Given the description of an element on the screen output the (x, y) to click on. 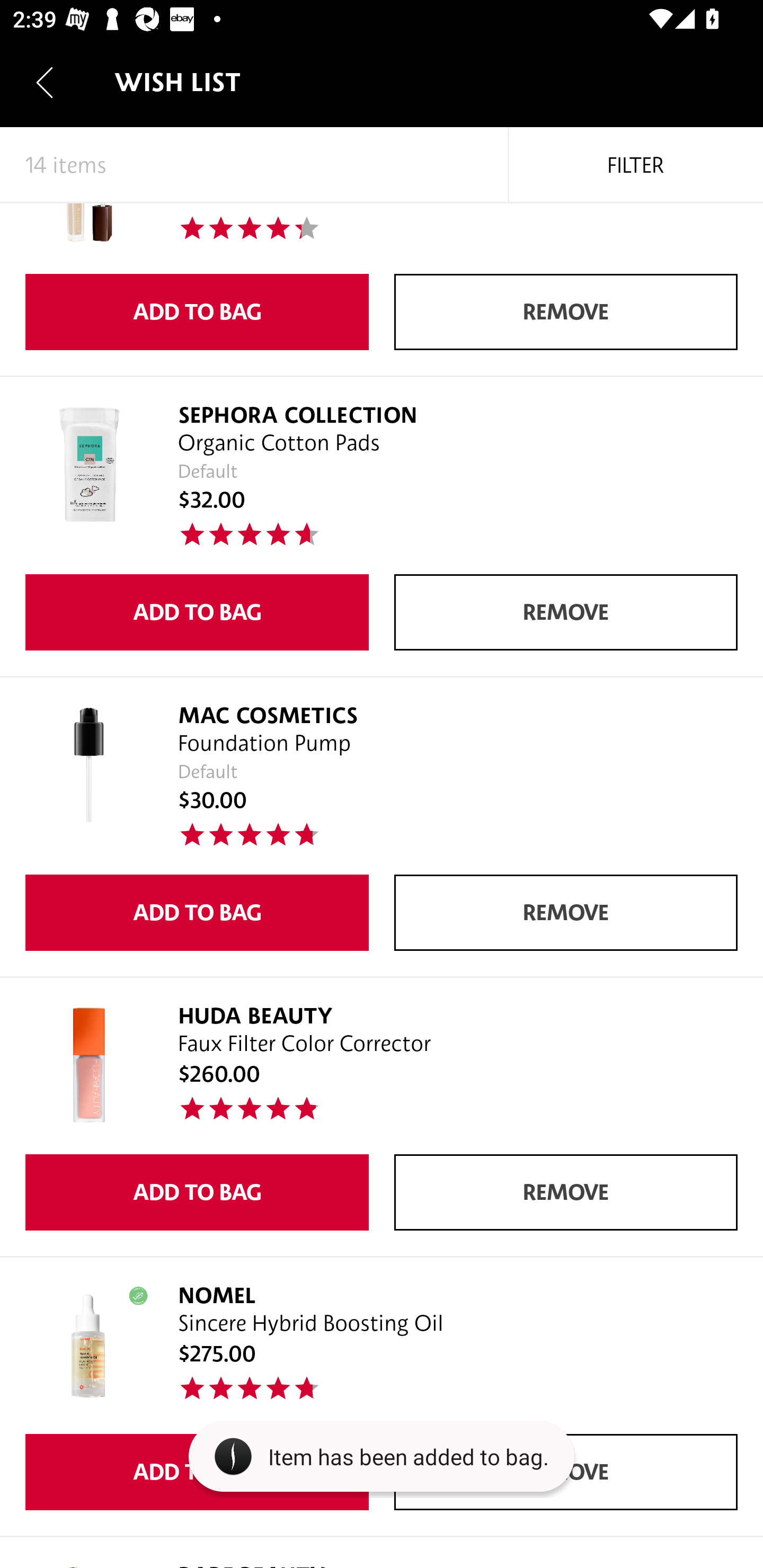
Navigate up (44, 82)
FILTER (635, 165)
ADD TO BAG (196, 311)
REMOVE (565, 311)
ADD TO BAG (196, 611)
REMOVE (565, 611)
ADD TO BAG (196, 912)
REMOVE (565, 912)
ADD TO BAG (196, 1192)
REMOVE (565, 1192)
